Given the description of an element on the screen output the (x, y) to click on. 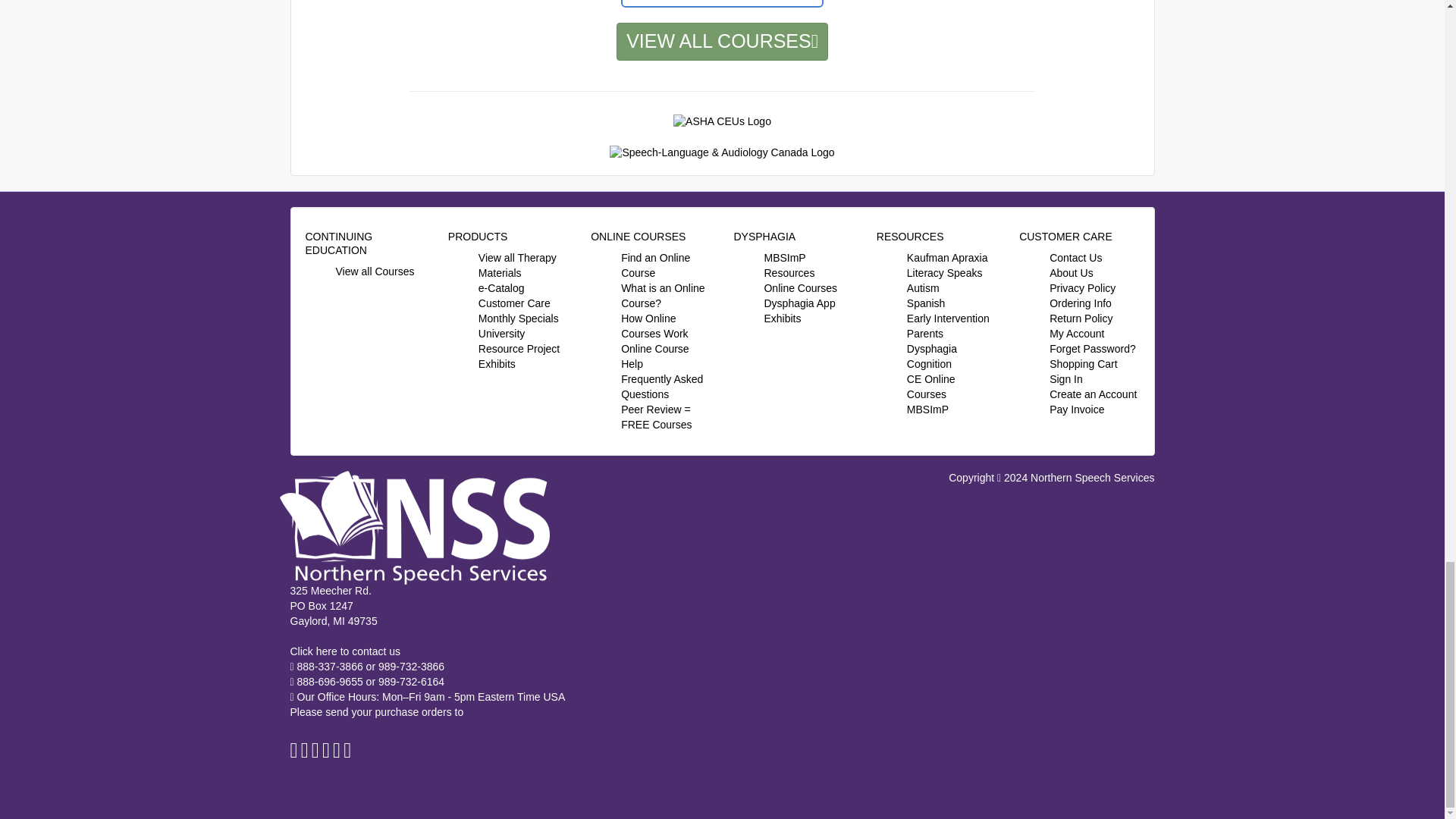
View all Online Courses (373, 271)
